Given the description of an element on the screen output the (x, y) to click on. 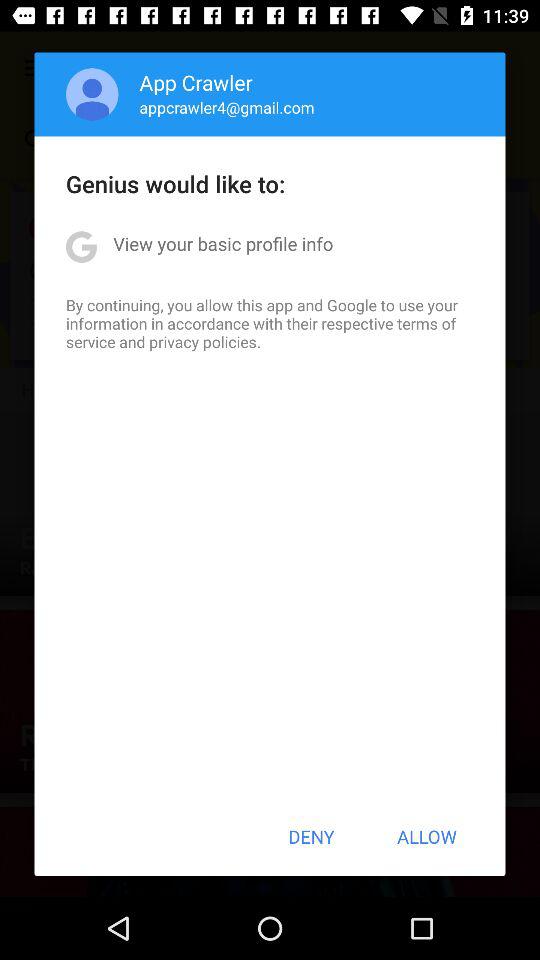
choose the appcrawler4@gmail.com icon (226, 107)
